Given the description of an element on the screen output the (x, y) to click on. 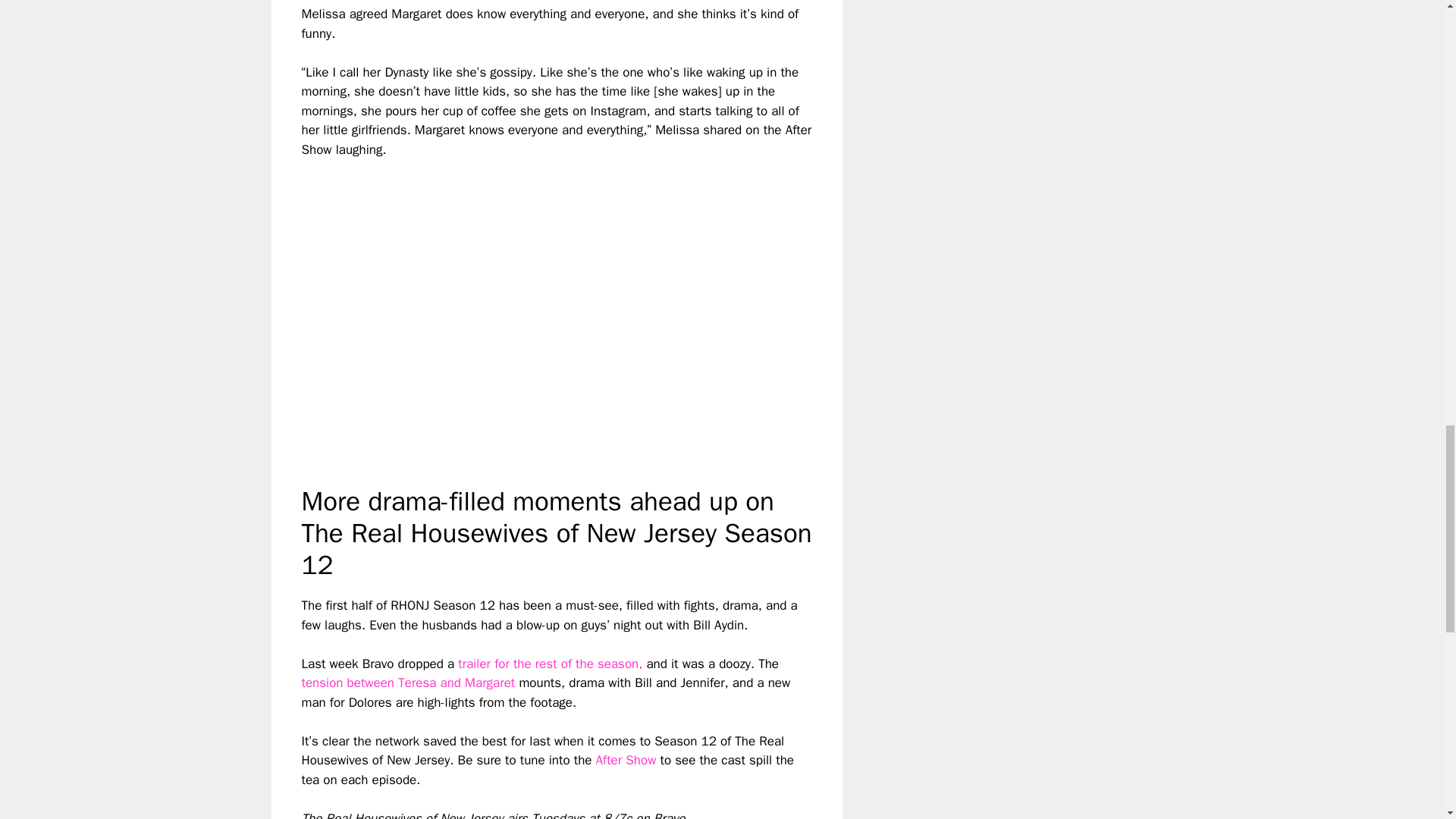
tension between Teresa and Margaret (408, 682)
trailer for the rest of the season, (550, 663)
After Show (625, 760)
